Given the description of an element on the screen output the (x, y) to click on. 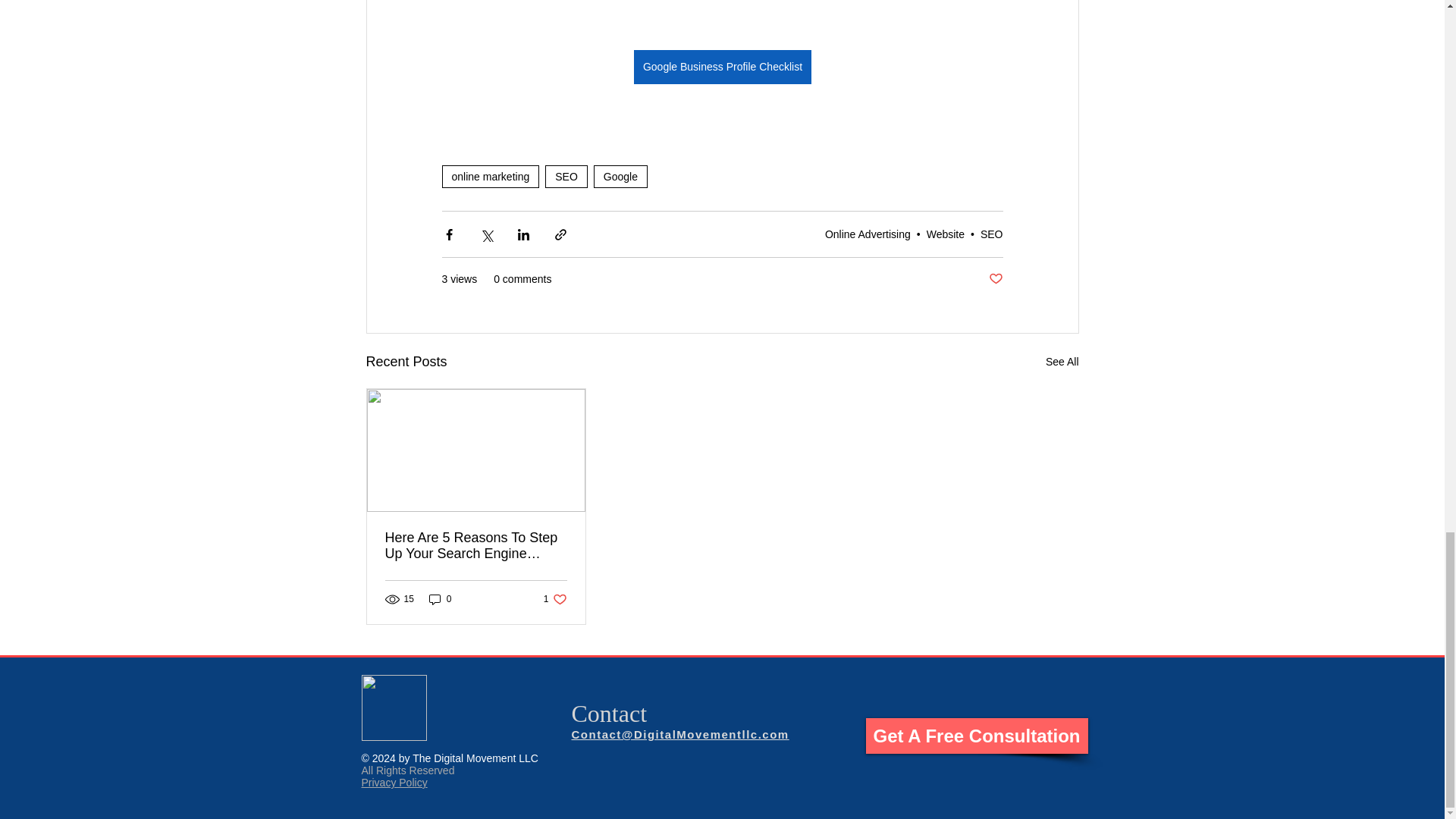
SEO (566, 176)
Post not marked as liked (995, 279)
Google (620, 176)
0 (440, 598)
Website (944, 233)
online marketing (489, 176)
SEO (991, 233)
Online Advertising (868, 233)
Google Business Profile Checklist (721, 66)
woman owned business.png (393, 707)
See All (555, 598)
